Given the description of an element on the screen output the (x, y) to click on. 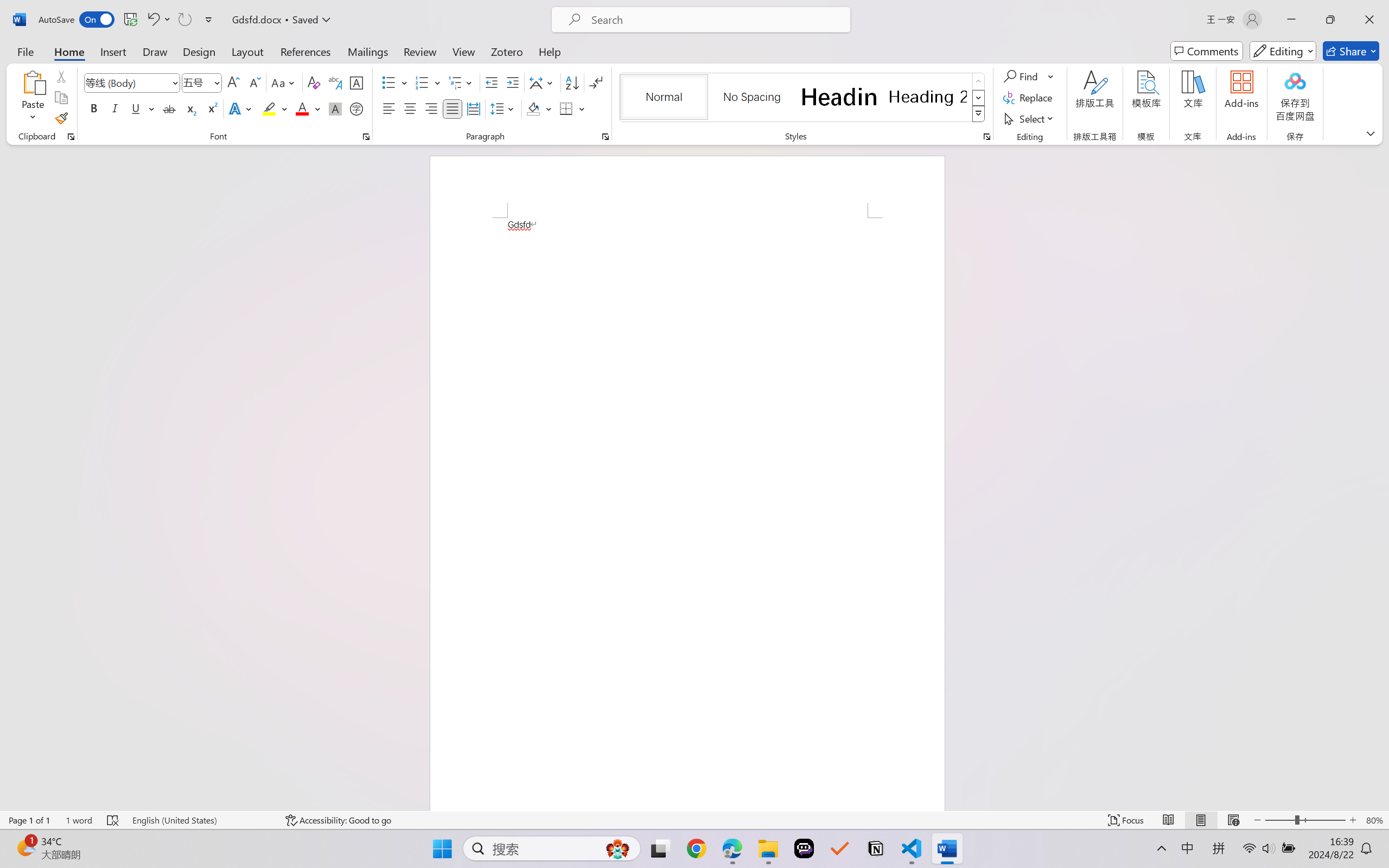
Font Color Red (302, 108)
Zoom 80% (1374, 819)
